Given the description of an element on the screen output the (x, y) to click on. 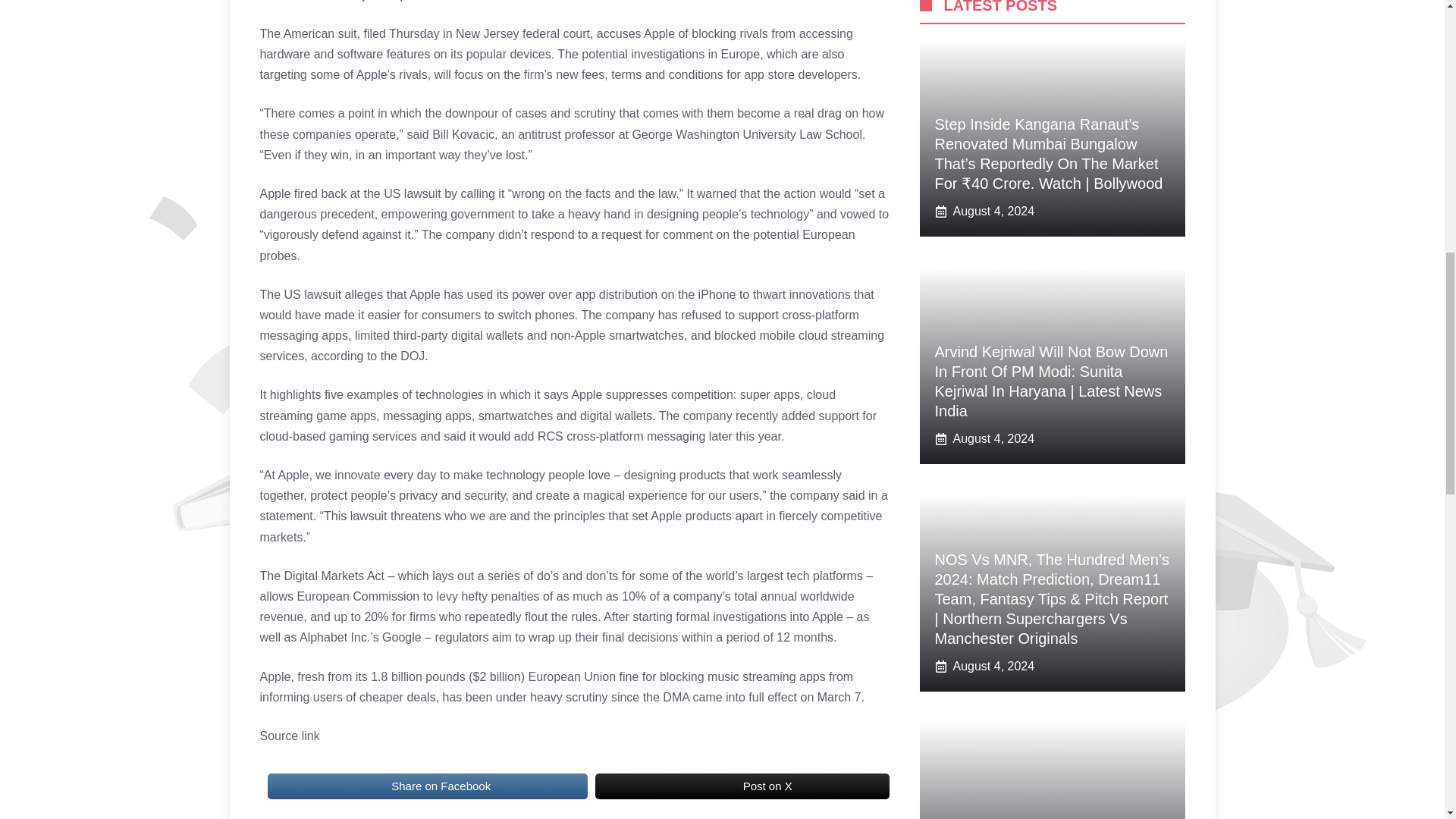
Post on X (742, 786)
Source link (288, 735)
Share on Facebook (426, 786)
